Given the description of an element on the screen output the (x, y) to click on. 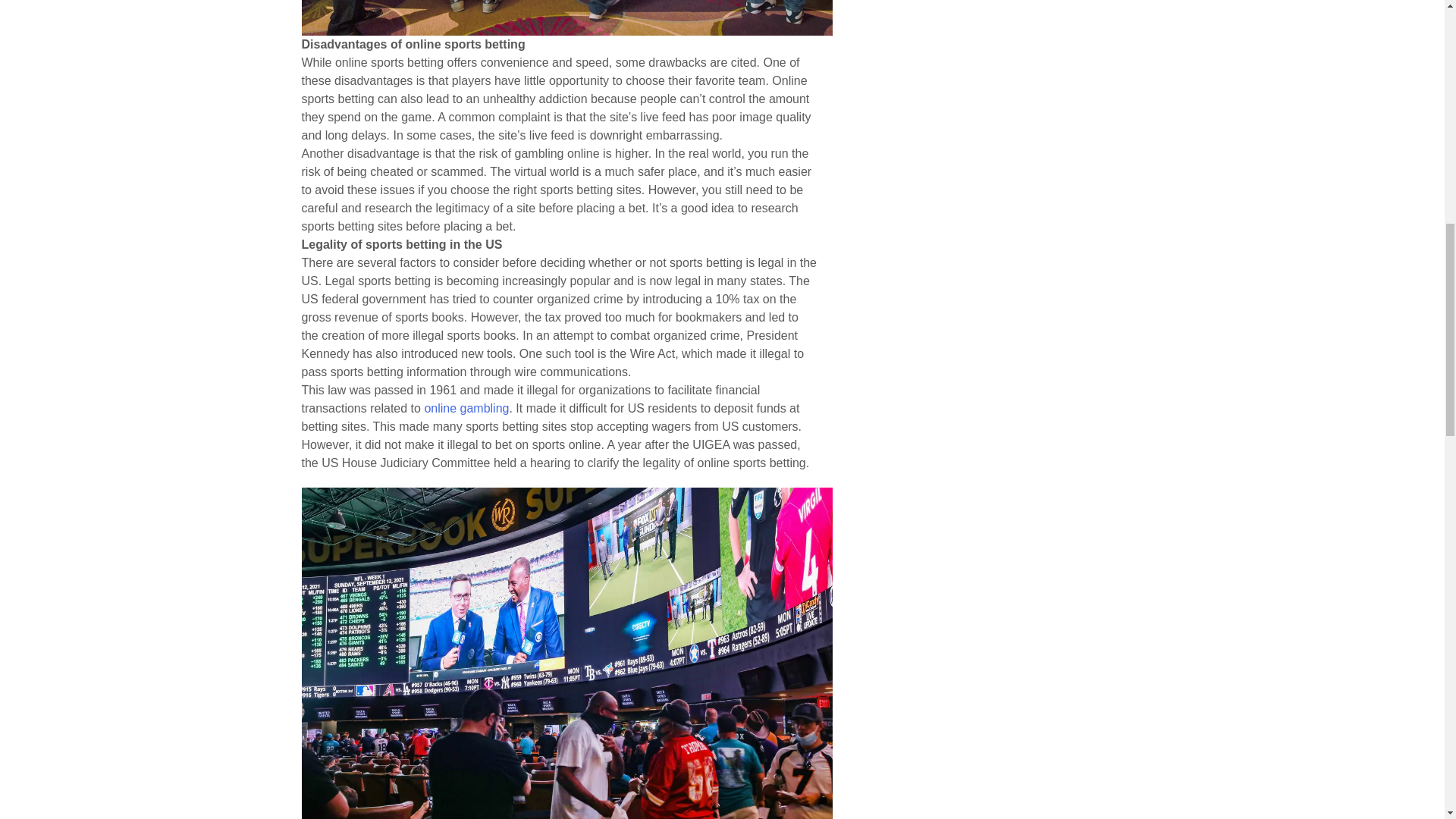
online gambling (465, 408)
